Given the description of an element on the screen output the (x, y) to click on. 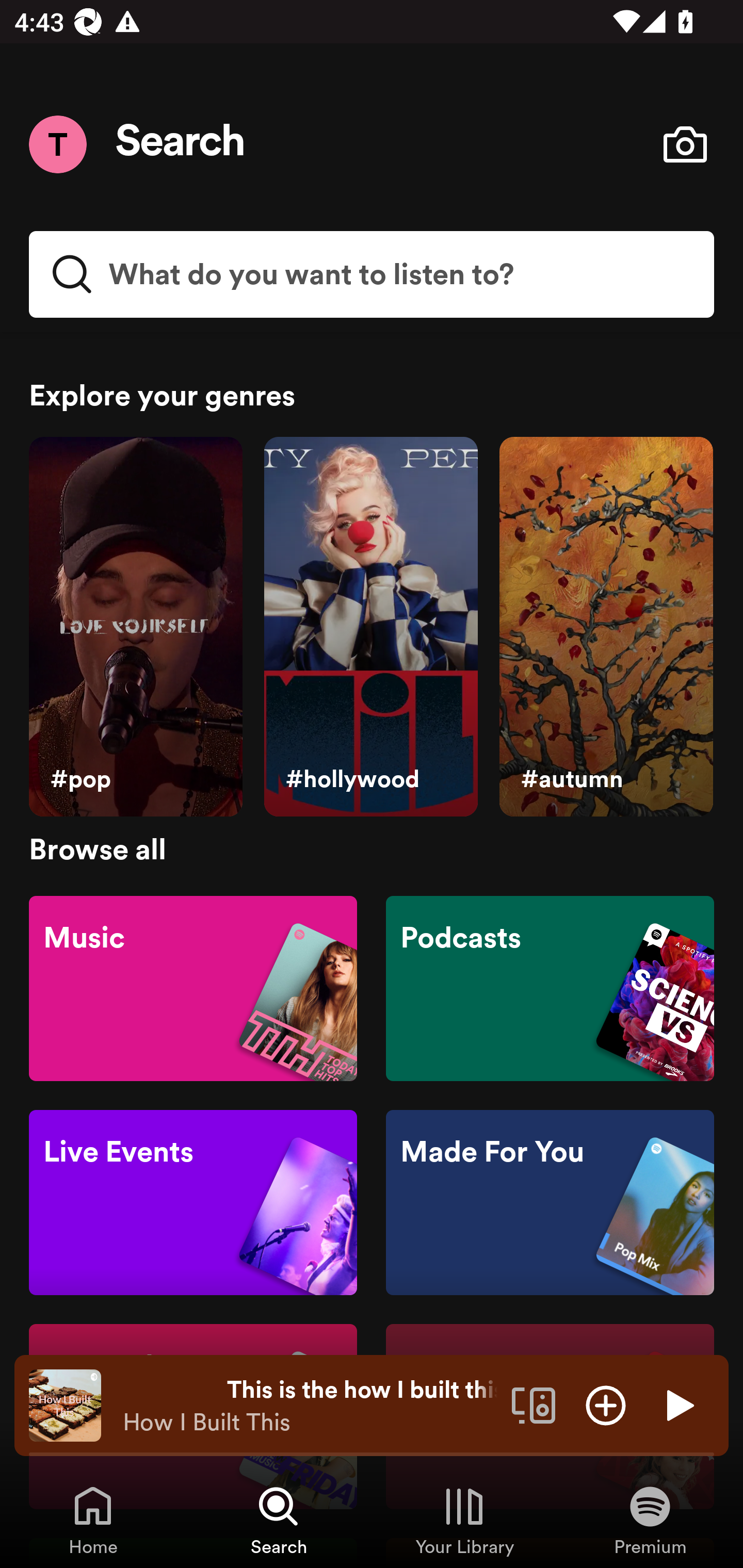
Menu (57, 144)
Open camera (685, 145)
Search (180, 144)
#pop (135, 626)
#hollywood (370, 626)
#autumn (606, 626)
Music (192, 987)
Podcasts (549, 987)
Live Events (192, 1202)
Made For You (549, 1202)
The cover art of the currently playing track (64, 1404)
Connect to a device. Opens the devices menu (533, 1404)
Add item (605, 1404)
Play (677, 1404)
Home, Tab 1 of 4 Home Home (92, 1519)
Search, Tab 2 of 4 Search Search (278, 1519)
Your Library, Tab 3 of 4 Your Library Your Library (464, 1519)
Premium, Tab 4 of 4 Premium Premium (650, 1519)
